Given the description of an element on the screen output the (x, y) to click on. 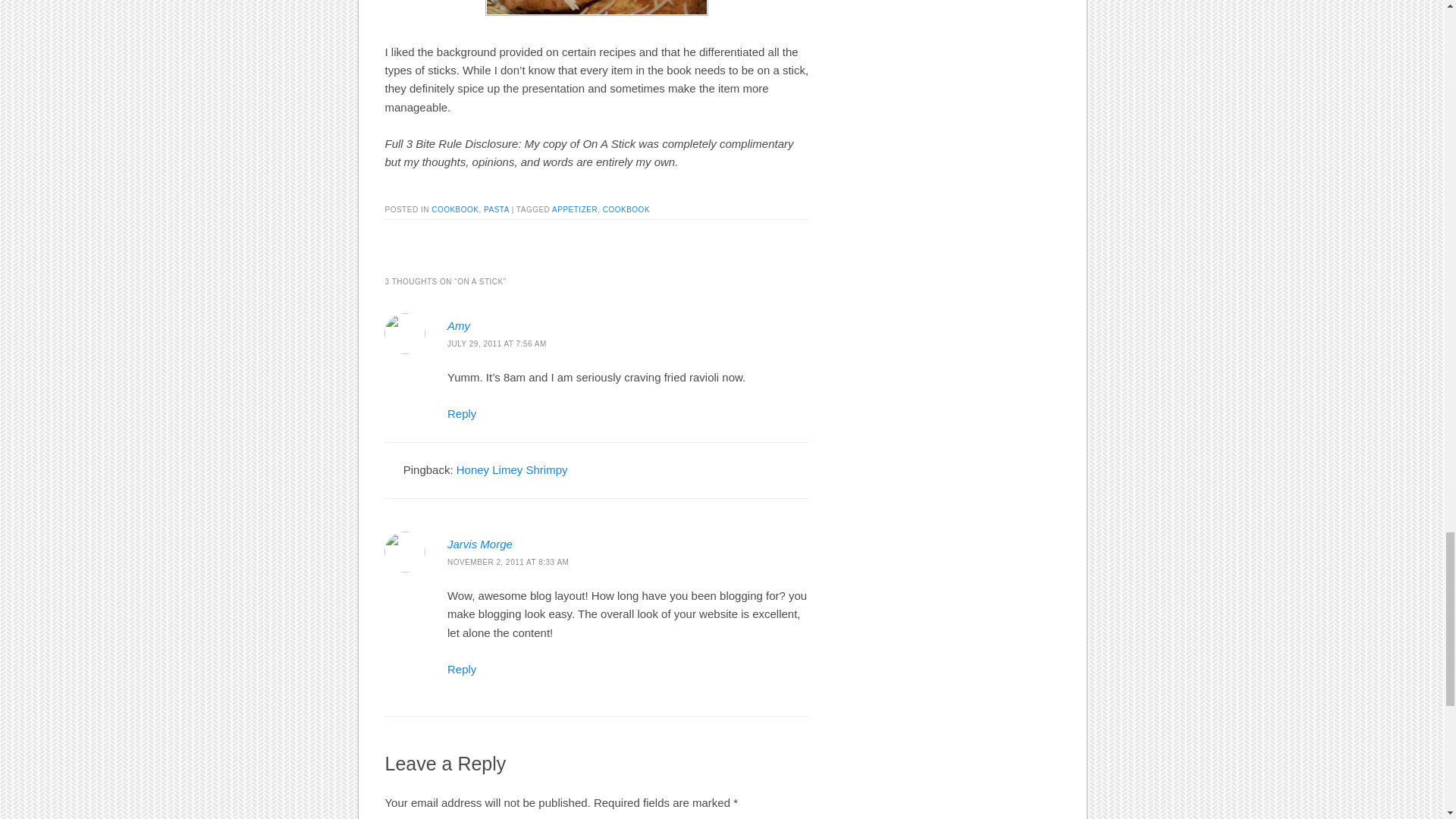
Jarvis Morge (479, 543)
JULY 29, 2011 AT 7:56 AM (496, 343)
Reply (461, 668)
Reply (461, 413)
COOKBOOK (625, 209)
NOVEMBER 2, 2011 AT 8:33 AM (507, 561)
Honey Limey Shrimpy (512, 469)
Amy (458, 325)
COOKBOOK (454, 209)
APPETIZER (573, 209)
PASTA (495, 209)
